Given the description of an element on the screen output the (x, y) to click on. 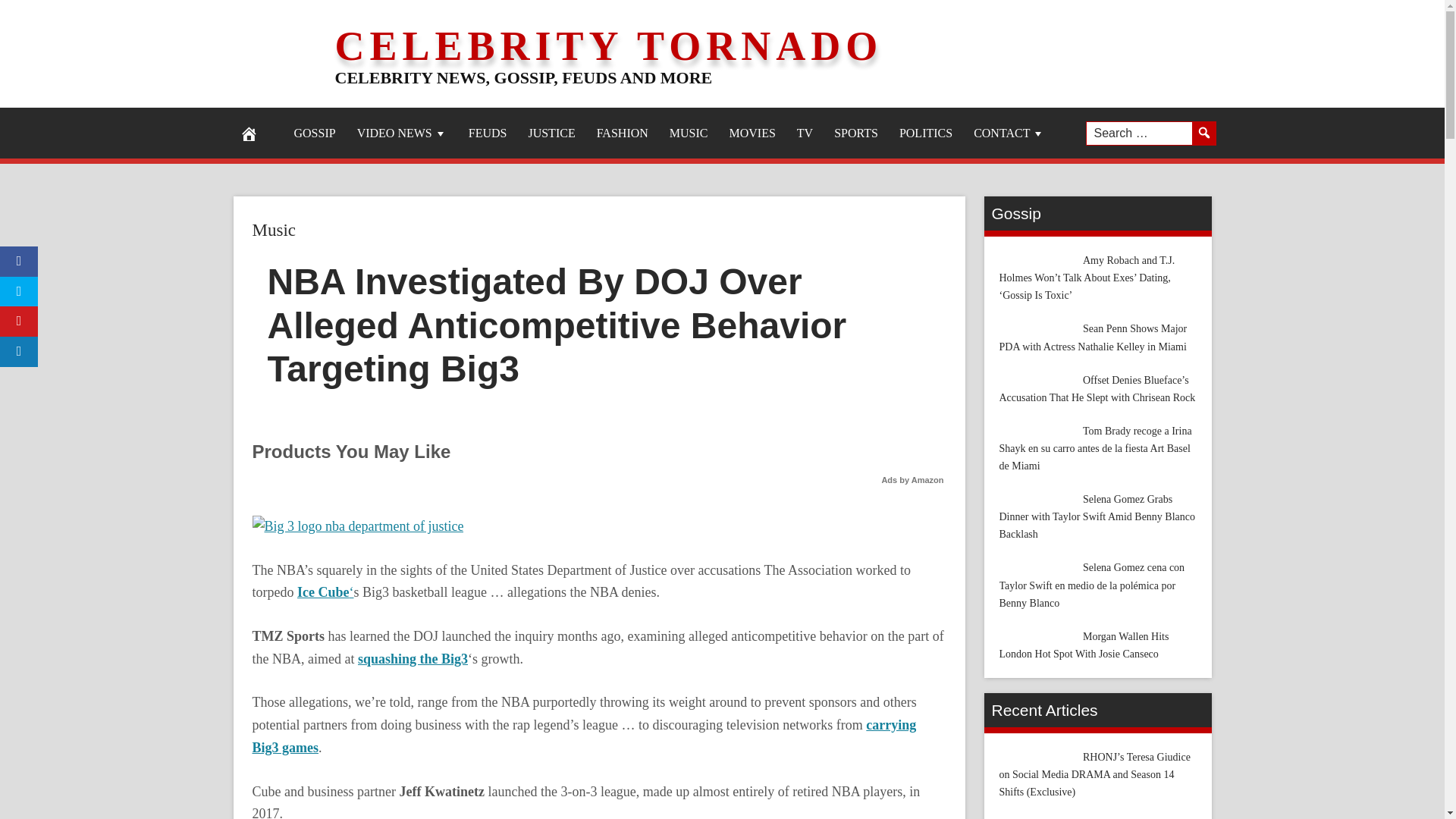
VIDEO NEWS (402, 132)
GOSSIP (314, 132)
CELEBRITY TORNADO (608, 44)
FASHION (622, 132)
Music (273, 229)
MUSIC (689, 132)
JUSTICE (550, 132)
FEUDS (488, 132)
